Given the description of an element on the screen output the (x, y) to click on. 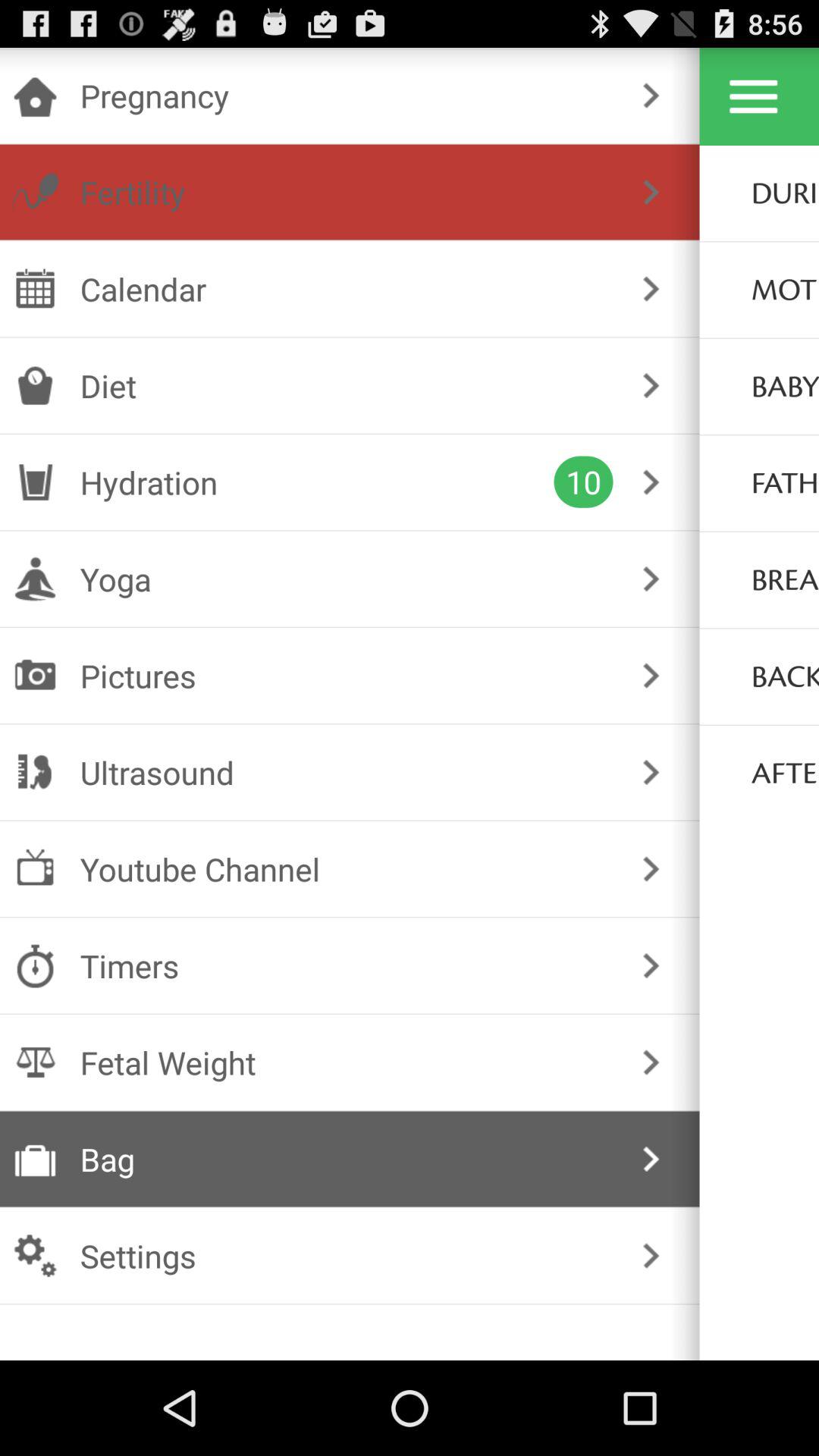
scroll to timers checkbox (346, 965)
